Given the description of an element on the screen output the (x, y) to click on. 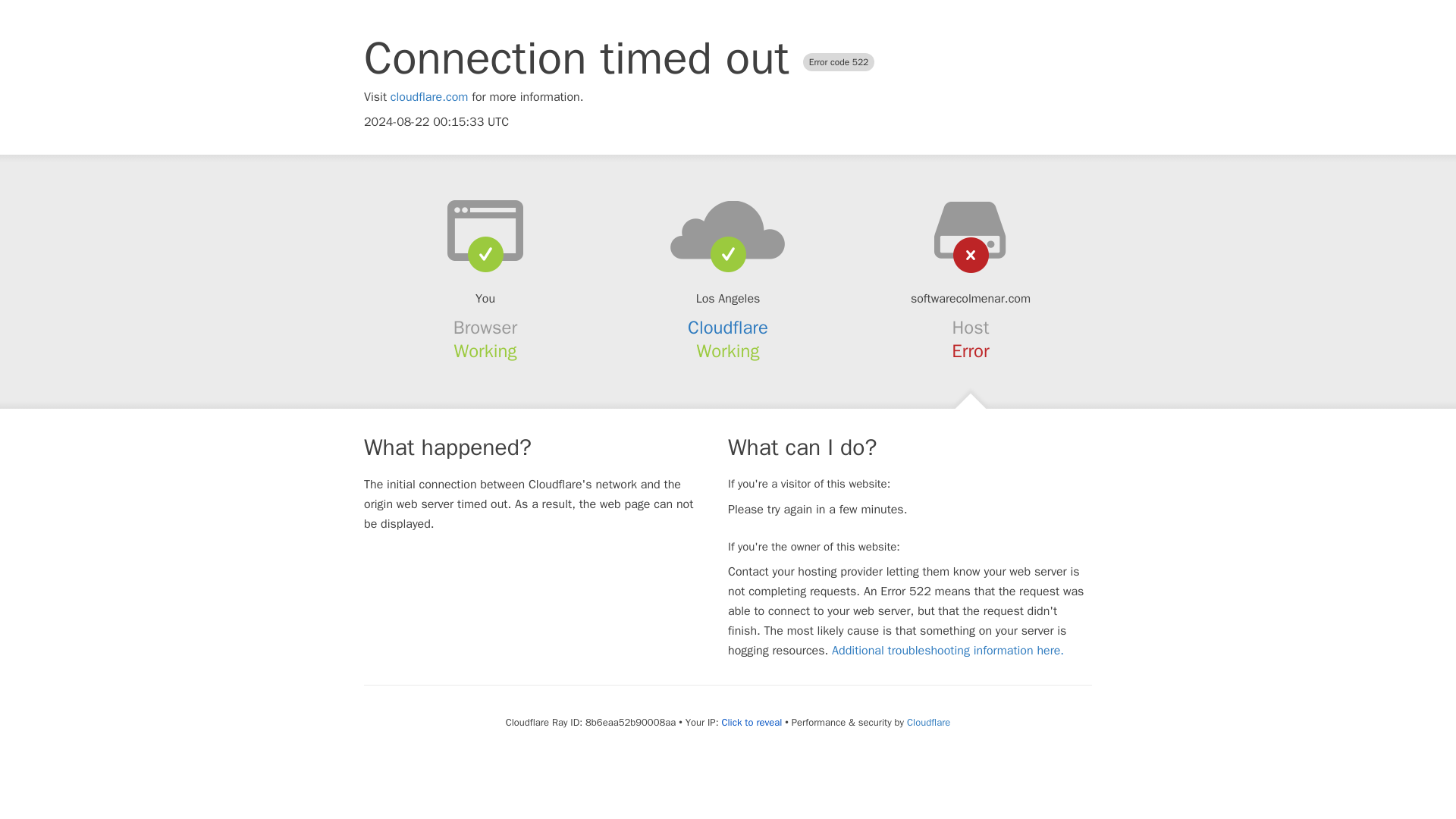
Cloudflare (727, 327)
Click to reveal (750, 722)
cloudflare.com (429, 96)
Cloudflare (928, 721)
Additional troubleshooting information here. (947, 650)
